Given the description of an element on the screen output the (x, y) to click on. 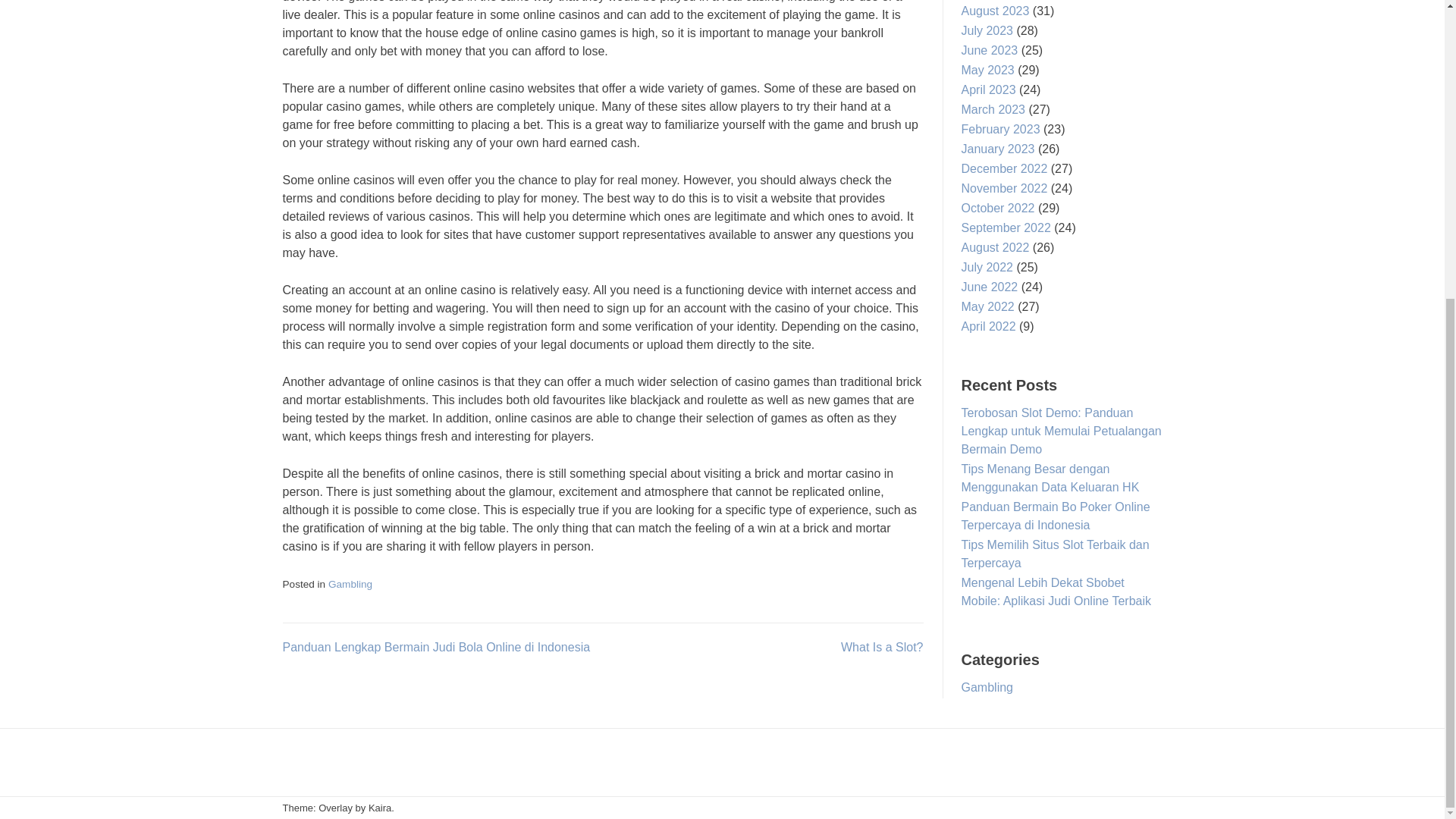
March 2023 (993, 109)
April 2022 (988, 326)
November 2022 (1004, 187)
September 2022 (1005, 227)
April 2023 (988, 89)
February 2023 (1000, 128)
August 2022 (994, 246)
June 2023 (988, 50)
August 2023 (994, 10)
July 2023 (986, 30)
December 2022 (1004, 168)
Gambling (350, 583)
June 2022 (988, 286)
What Is a Slot? (882, 646)
May 2022 (987, 306)
